Given the description of an element on the screen output the (x, y) to click on. 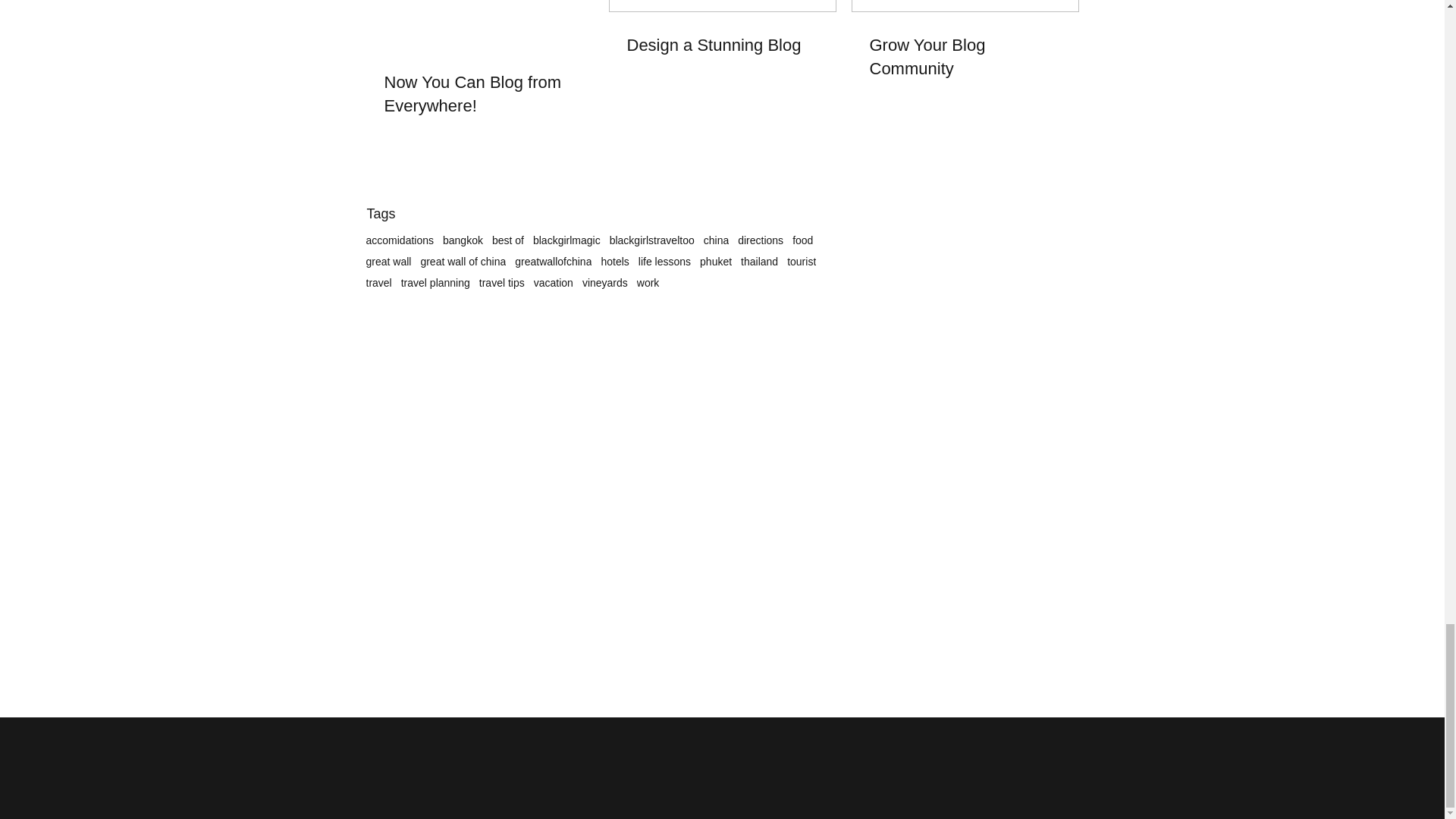
Now You Can Blog from Everywhere! (479, 94)
travel planning (435, 282)
hotels (613, 261)
blackgirlmagic (565, 240)
directions (760, 240)
thailand (759, 261)
travel (378, 282)
accomidations (399, 240)
phuket (716, 261)
greatwallofchina (553, 261)
